Given the description of an element on the screen output the (x, y) to click on. 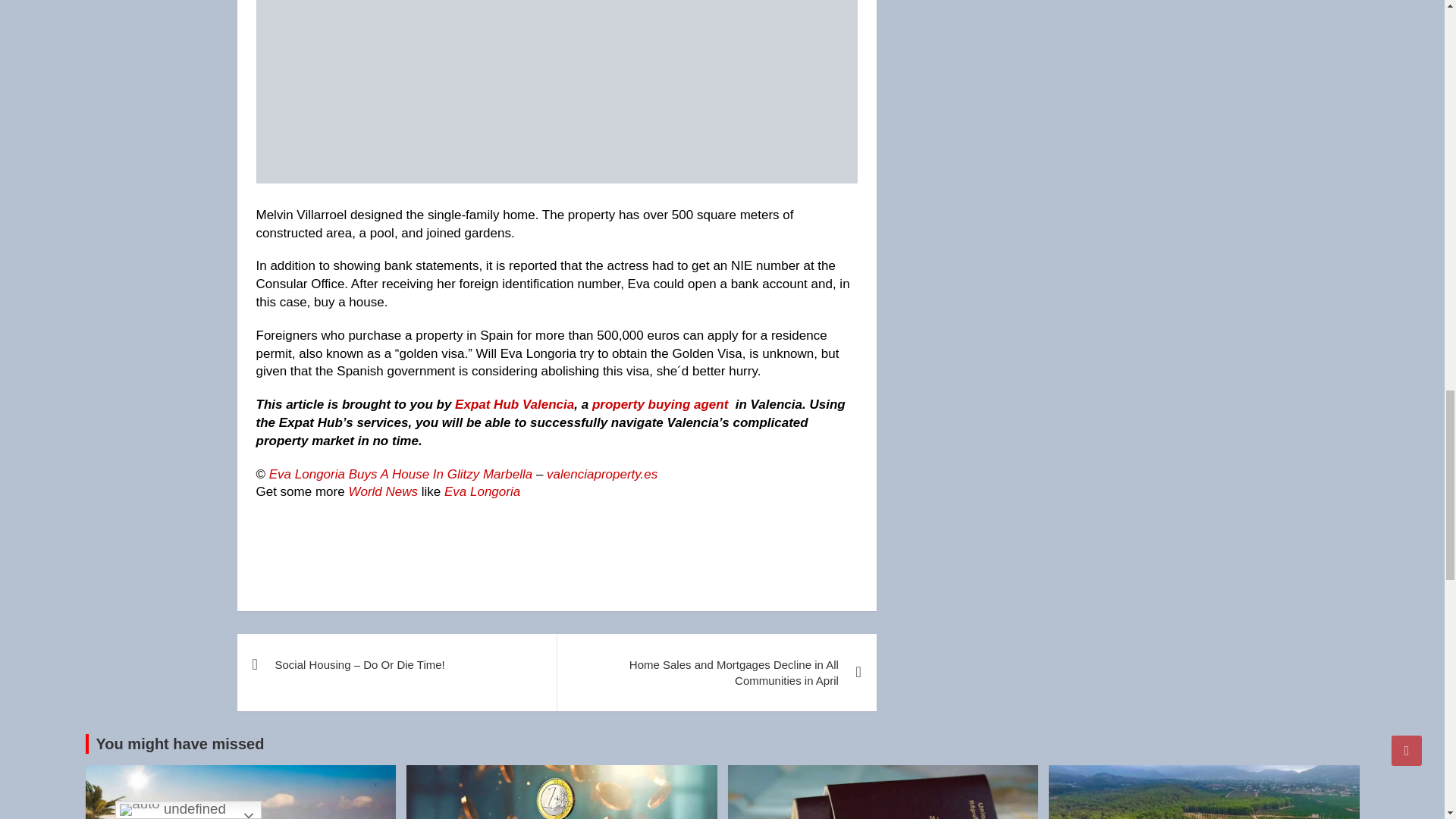
Eva Longoria (481, 491)
Home Sales and Mortgages Decline in All Communities in April (716, 672)
Expat Hub Valencia (513, 404)
Eva Longoria Buys A House In Glitzy Marbella (402, 473)
valenciaproperty.es (602, 473)
World News (382, 491)
property buying agent (660, 404)
